Given the description of an element on the screen output the (x, y) to click on. 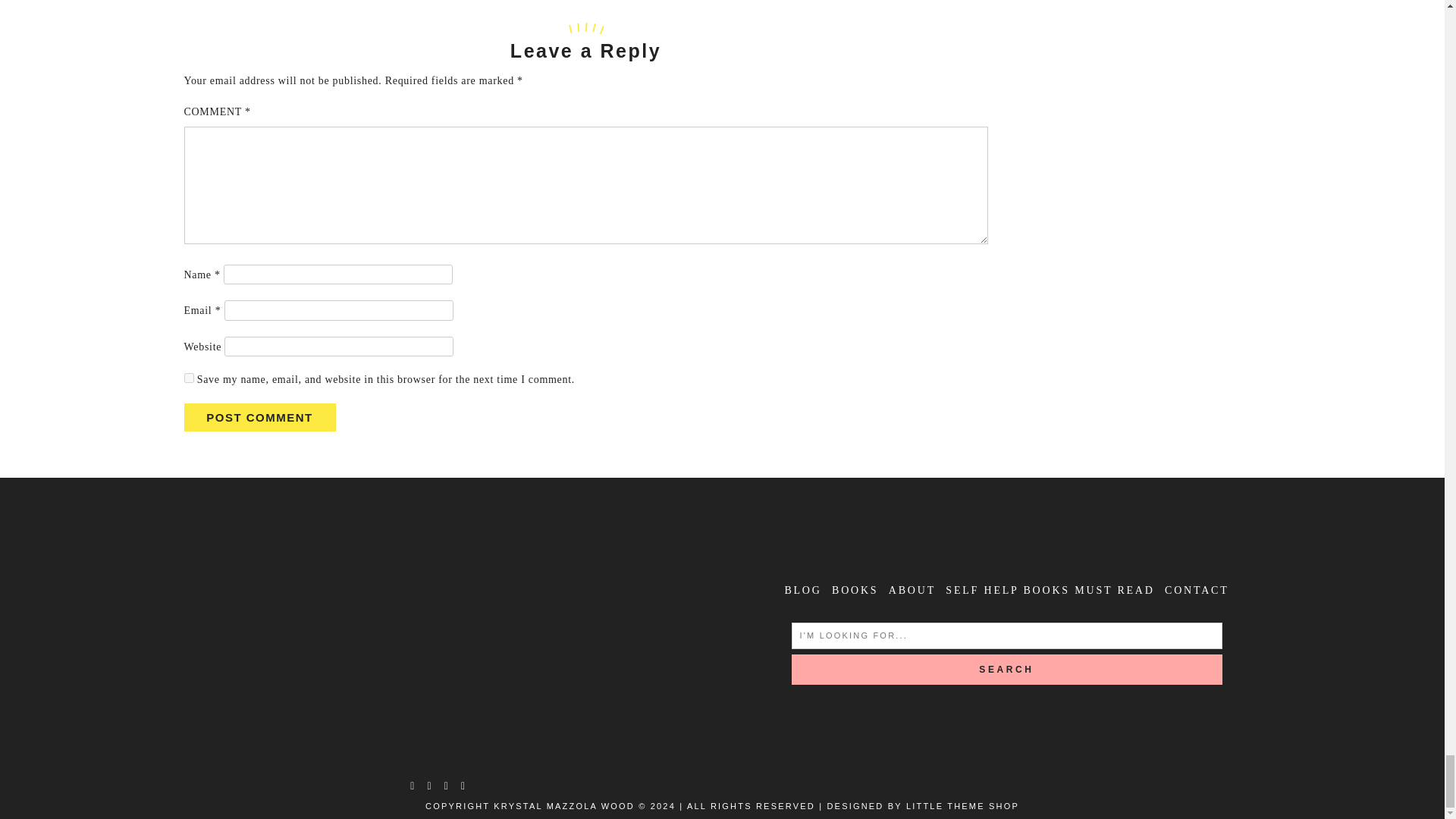
Post Comment (258, 417)
Search (1007, 669)
yes (188, 378)
Search (1007, 669)
